Given the description of an element on the screen output the (x, y) to click on. 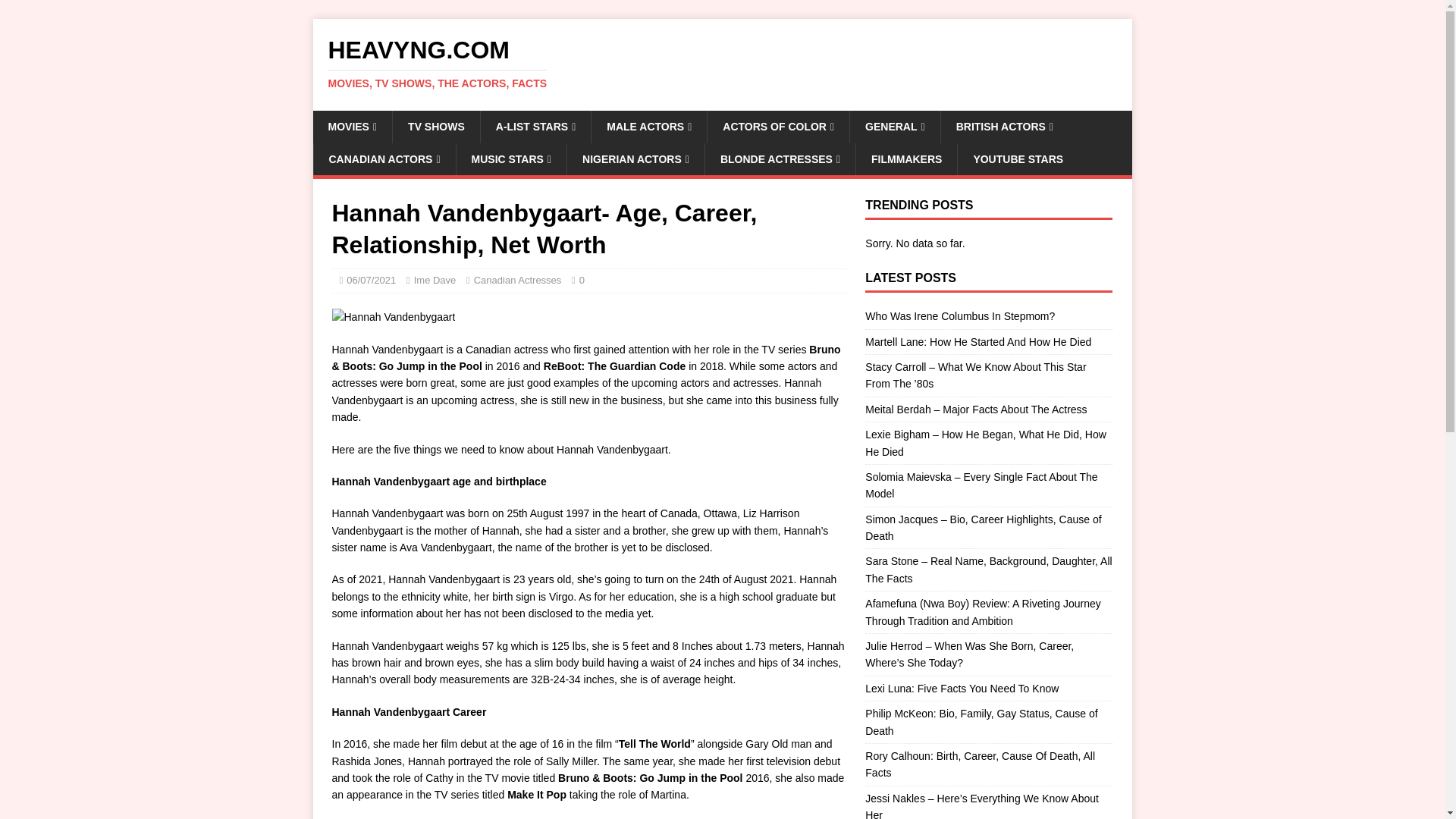
BLONDE ACTRESSES (780, 159)
NIGERIAN ACTORS (635, 159)
MUSIC STARS (511, 159)
YOUTUBE STARS (1017, 159)
GENERAL (894, 126)
ACTORS OF COLOR (777, 126)
A-LIST STARS (535, 126)
BRITISH ACTORS (1004, 126)
Hannah (393, 316)
